Given the description of an element on the screen output the (x, y) to click on. 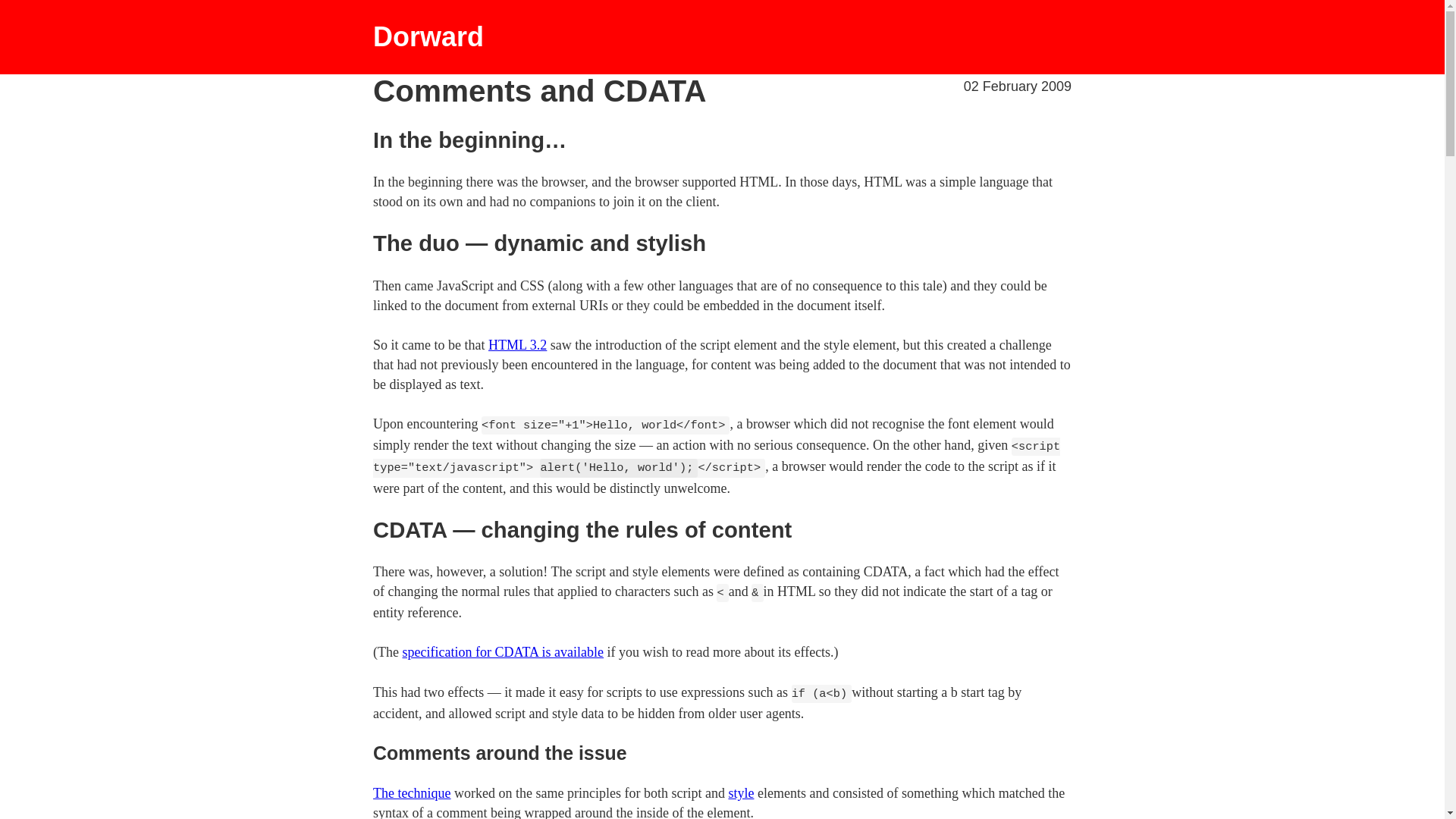
HTML 3.2 (517, 344)
style (741, 792)
The technique (410, 792)
specification for CDATA is available (503, 652)
Dorward (722, 36)
